Given the description of an element on the screen output the (x, y) to click on. 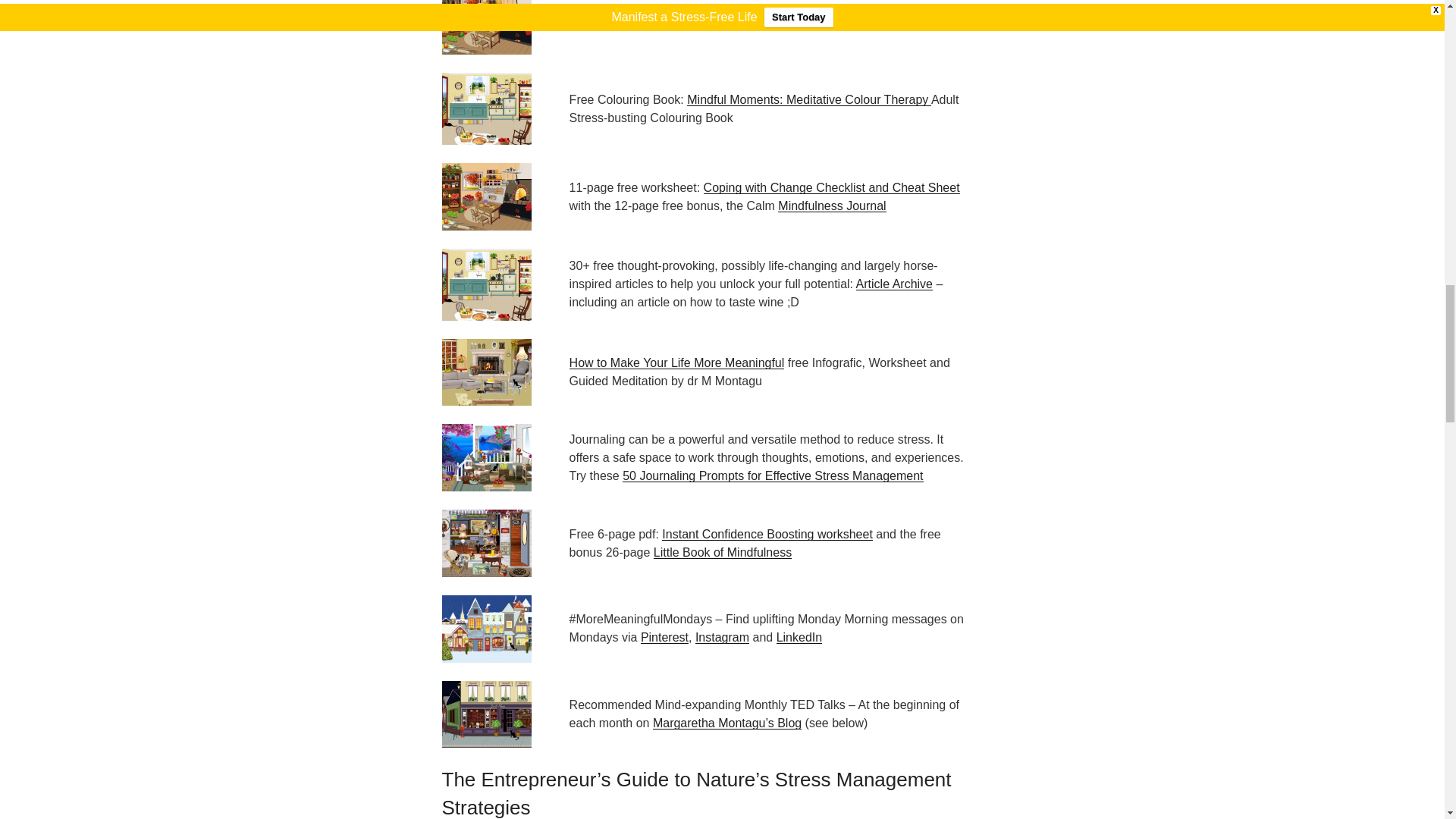
Instagram (722, 636)
Coping with Change Checklist and Cheat Sheet (831, 187)
50 Journaling Prompts for Effective Stress Management (773, 475)
Pinterest (664, 636)
LinkedIn (799, 636)
Mindfulness Journal (831, 205)
Instant Confidence Boosting worksheet (767, 533)
Mindful Moments: Meditative Colour Therapy (809, 99)
Article Archive (894, 283)
Are You emotionally resilient enough to avoid Burnout? (782, 20)
Little Book of Mindfulness (722, 552)
How to Make Your Life More Meaningful (676, 362)
